Given the description of an element on the screen output the (x, y) to click on. 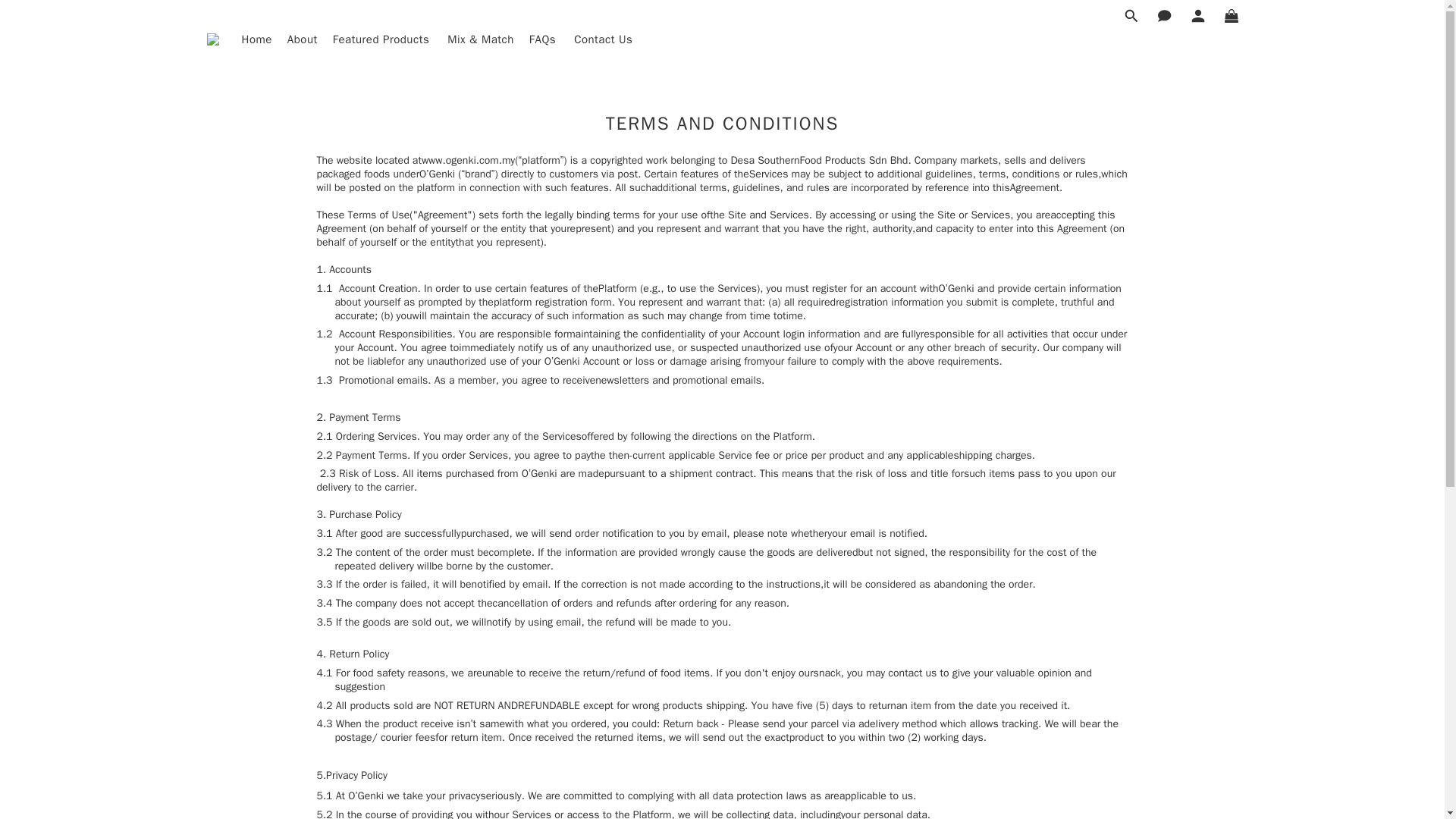
Home (255, 39)
Featured Products (382, 39)
Contact Us (602, 39)
About (301, 39)
FAQs (544, 39)
